Given the description of an element on the screen output the (x, y) to click on. 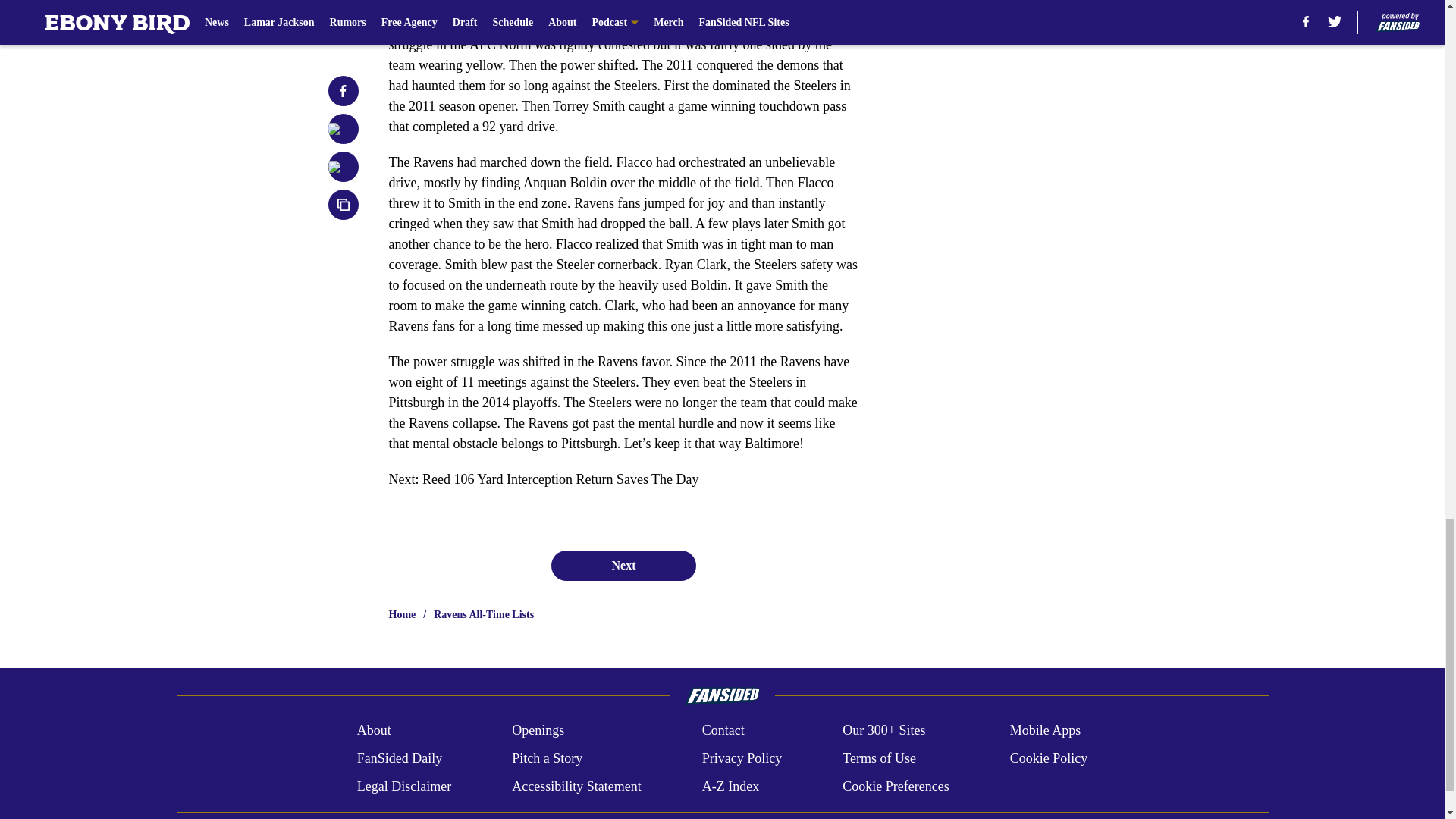
Accessibility Statement (576, 786)
Terms of Use (879, 757)
Ravens All-Time Lists (483, 613)
Contact (722, 730)
Legal Disclaimer (403, 786)
Pitch a Story (547, 757)
FanSided Daily (399, 757)
Mobile Apps (1045, 730)
Openings (538, 730)
Cookie Policy (1048, 757)
